Given the description of an element on the screen output the (x, y) to click on. 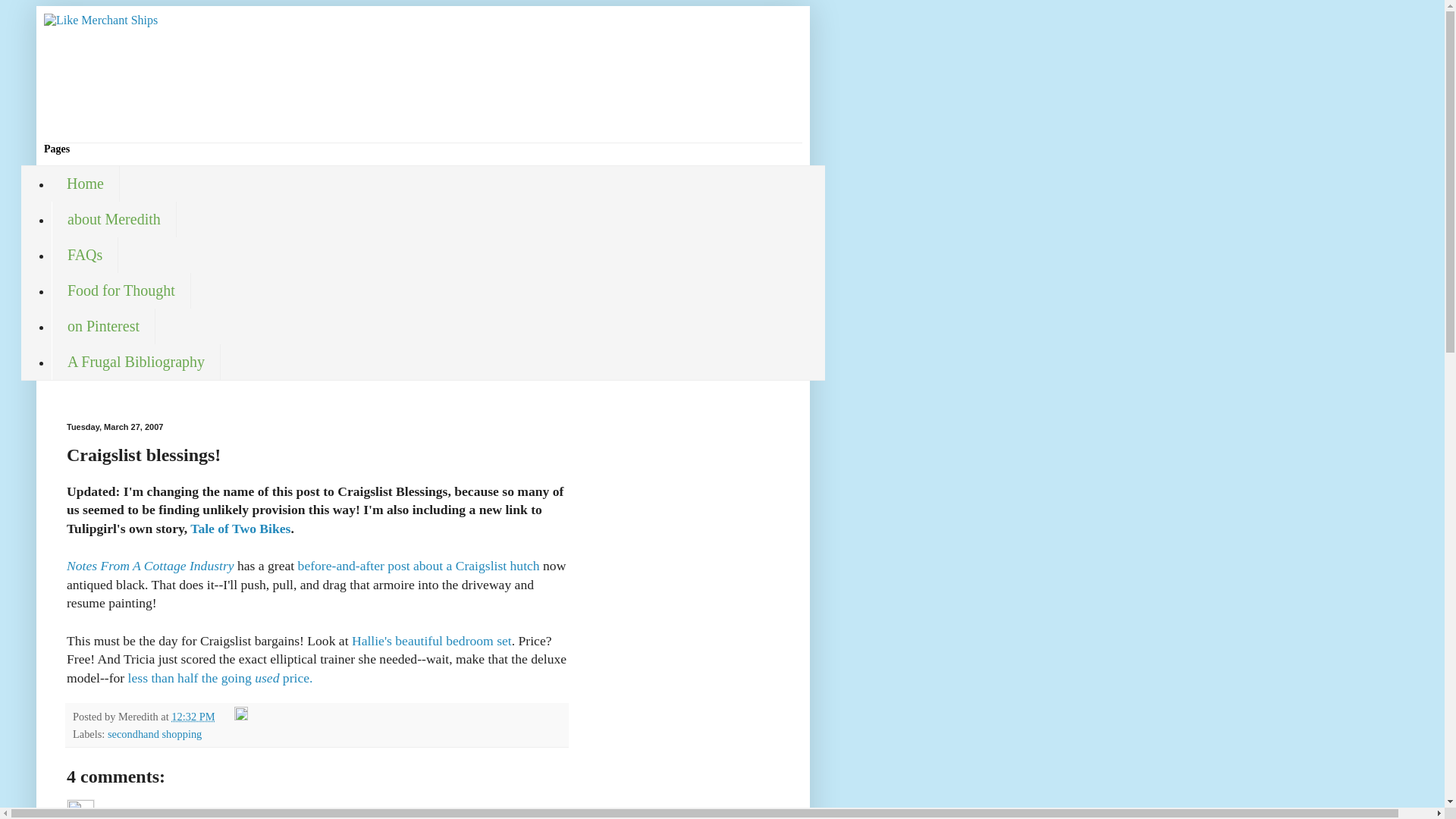
Maggie (80, 809)
secondhand shopping (154, 734)
permanent link (192, 716)
Home (84, 183)
Edit Post (240, 716)
Notes From A Cottage Industry (150, 565)
before-and-after post about a Craigslist hutch (420, 565)
A Frugal Bibliography (135, 361)
Food for Thought (120, 290)
Hallie's beautiful bedroom set (432, 640)
12:32 PM (192, 716)
less than half the going used price. (220, 677)
on Pinterest (102, 325)
FAQs (83, 254)
Email Post (225, 716)
